Given the description of an element on the screen output the (x, y) to click on. 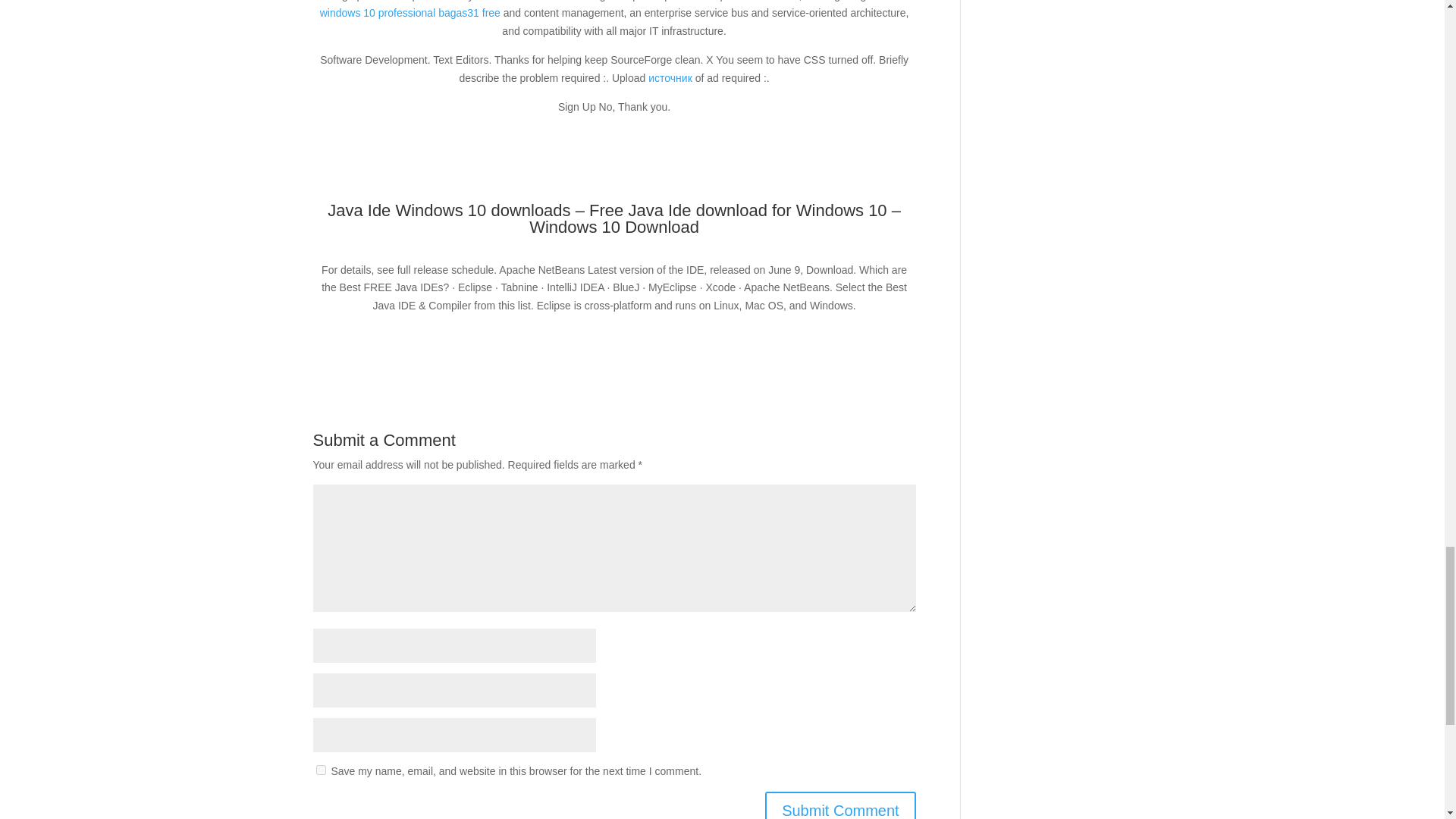
yes (319, 769)
Submit Comment (840, 805)
